Given the description of an element on the screen output the (x, y) to click on. 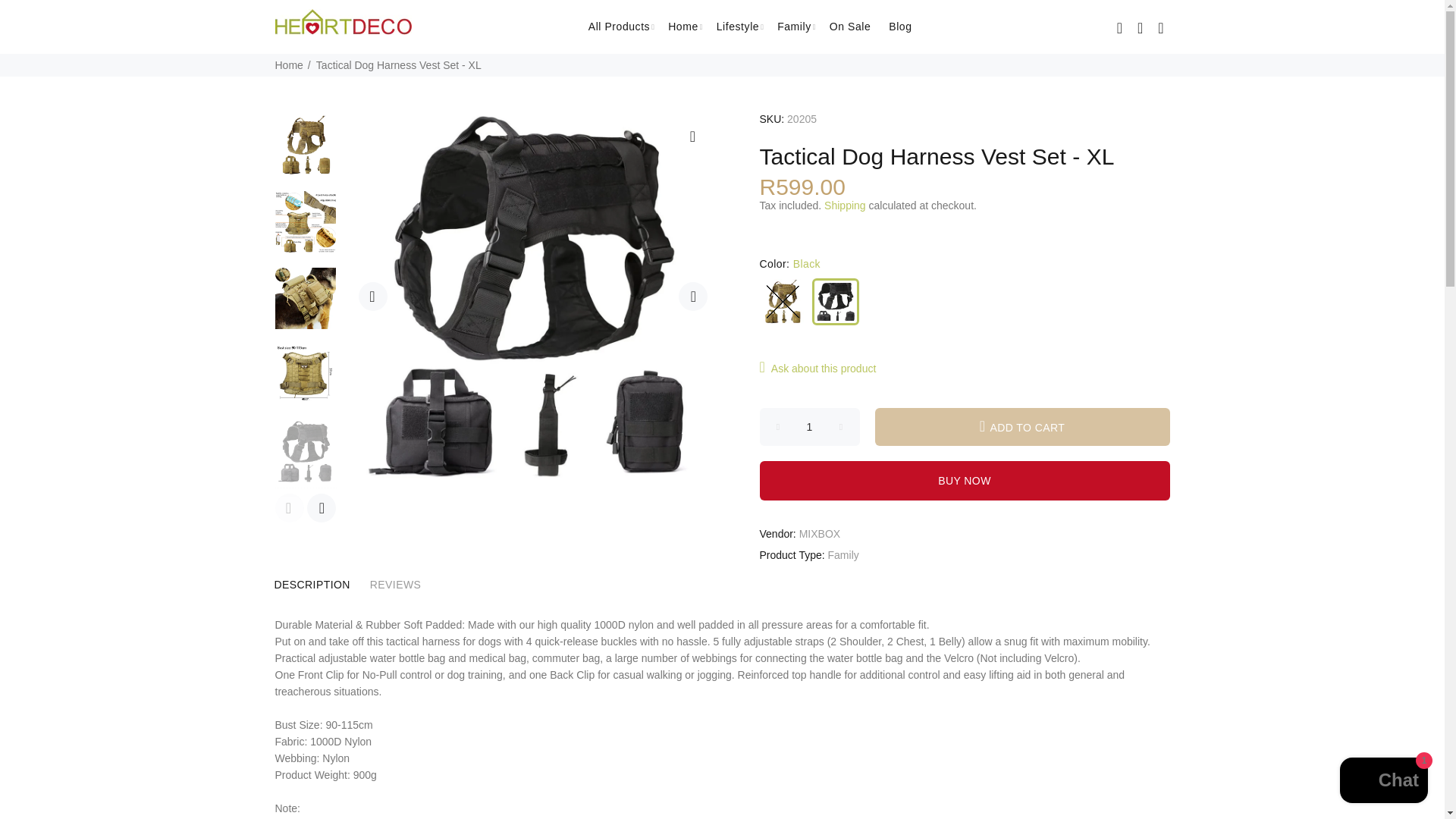
Shopify online store chat (1383, 781)
1 (810, 426)
